Given the description of an element on the screen output the (x, y) to click on. 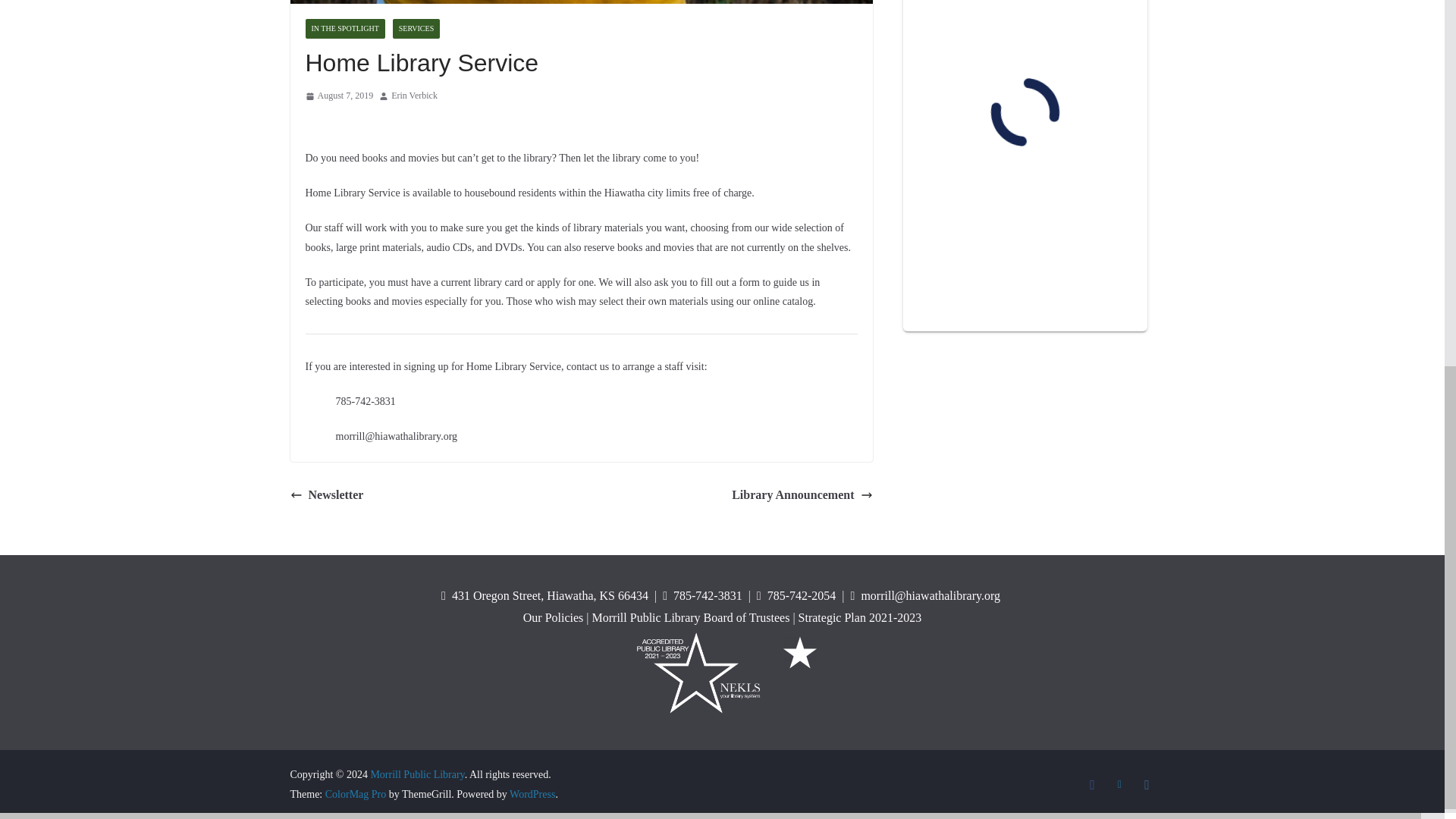
WordPress (531, 794)
Erin Verbick (414, 95)
ColorMag Pro (355, 794)
12:21 PM (338, 95)
Morrill Public Library (416, 774)
